Given the description of an element on the screen output the (x, y) to click on. 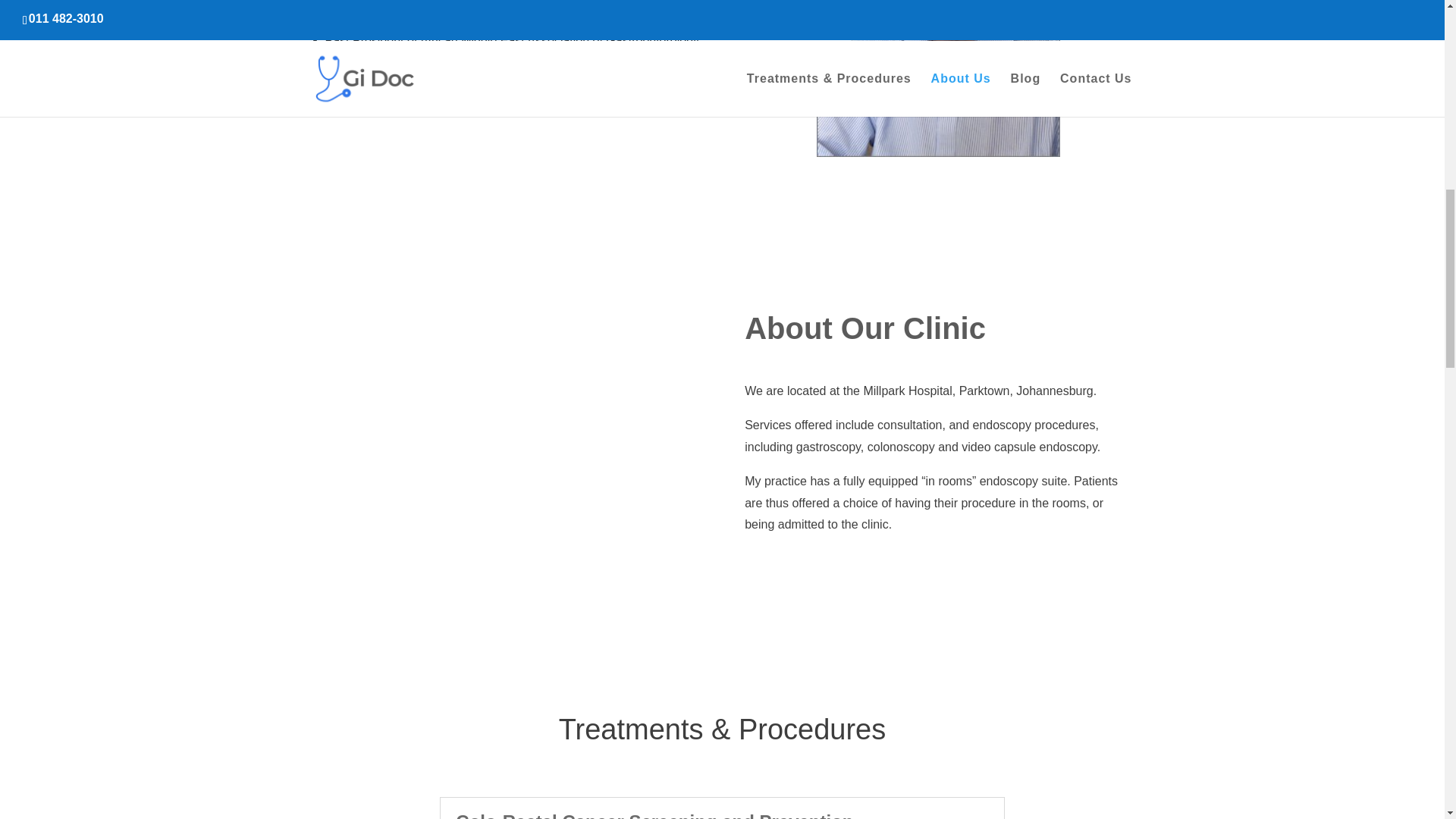
About GI Doc Johannesburg by Dr Schneider (937, 78)
